Given the description of an element on the screen output the (x, y) to click on. 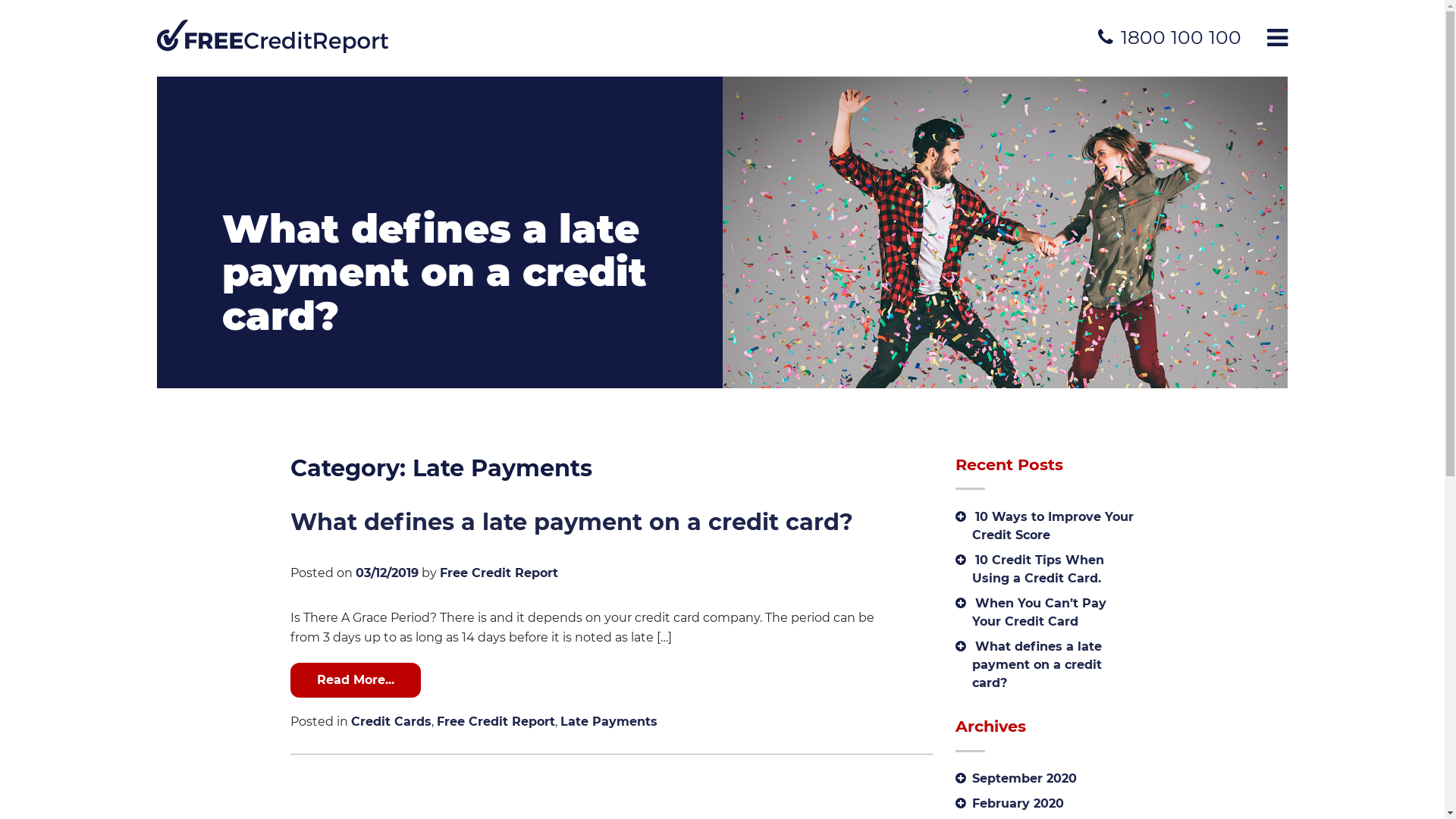
Late Payments Element type: text (607, 721)
What defines a late payment on a credit card? Element type: text (1036, 664)
Free Credit Report Element type: text (498, 572)
February 2020 Element type: text (1017, 803)
1800 100 100 Element type: text (1169, 37)
Credit Cards Element type: text (390, 721)
Free Credit Report Element type: text (495, 721)
Free Credit Report Element type: text (56, 9)
10 Ways to Improve Your Credit Score Element type: text (1052, 525)
September 2020 Element type: text (1024, 778)
What defines a late payment on a credit card? Element type: text (570, 522)
10 Credit Tips When Using a Credit Card. Element type: text (1038, 568)
Read More... Element type: text (354, 679)
03/12/2019 Element type: text (385, 572)
